Given the description of an element on the screen output the (x, y) to click on. 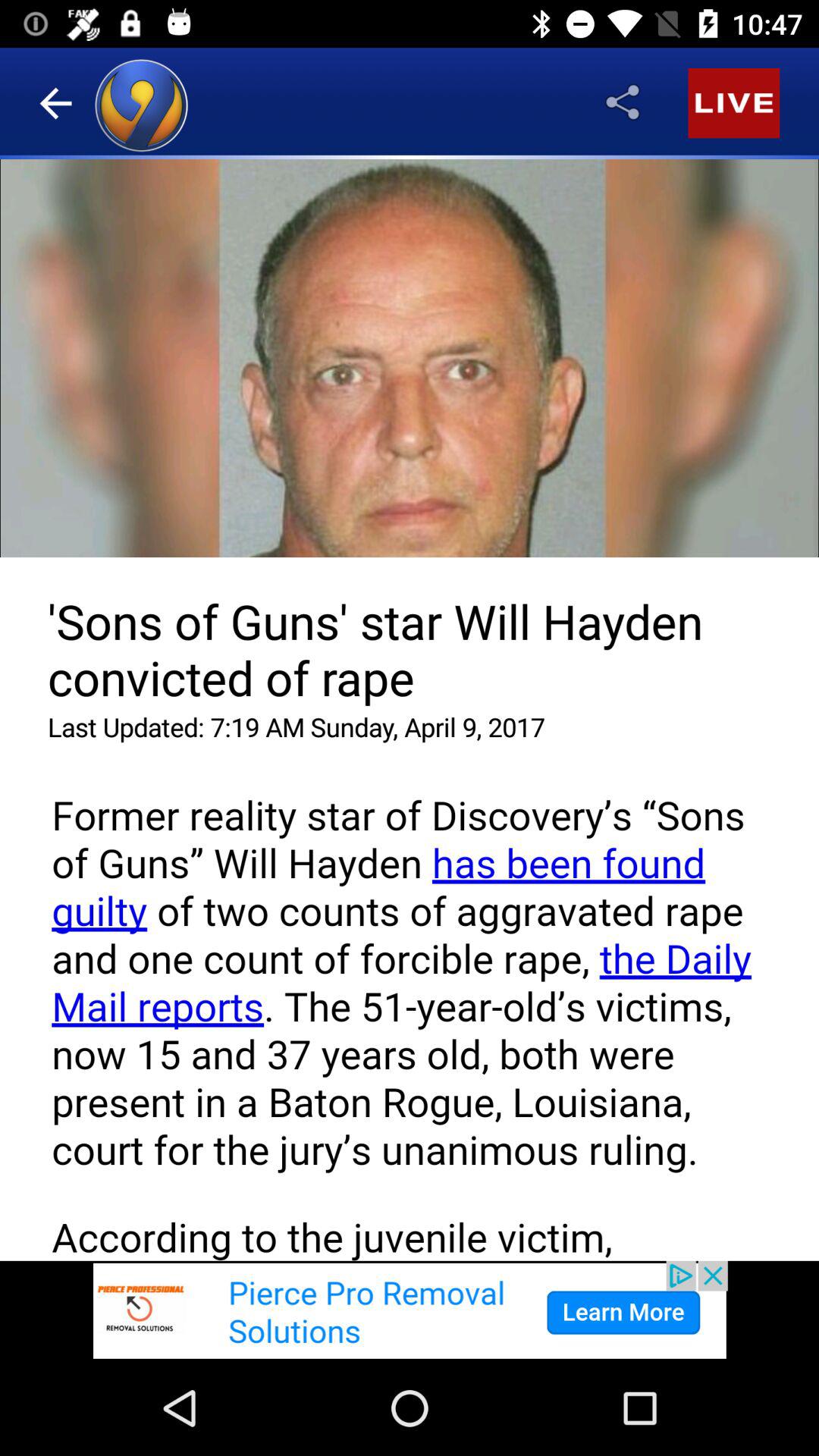
select the ear which is just below the live in blurry mode (724, 260)
